Given the description of an element on the screen output the (x, y) to click on. 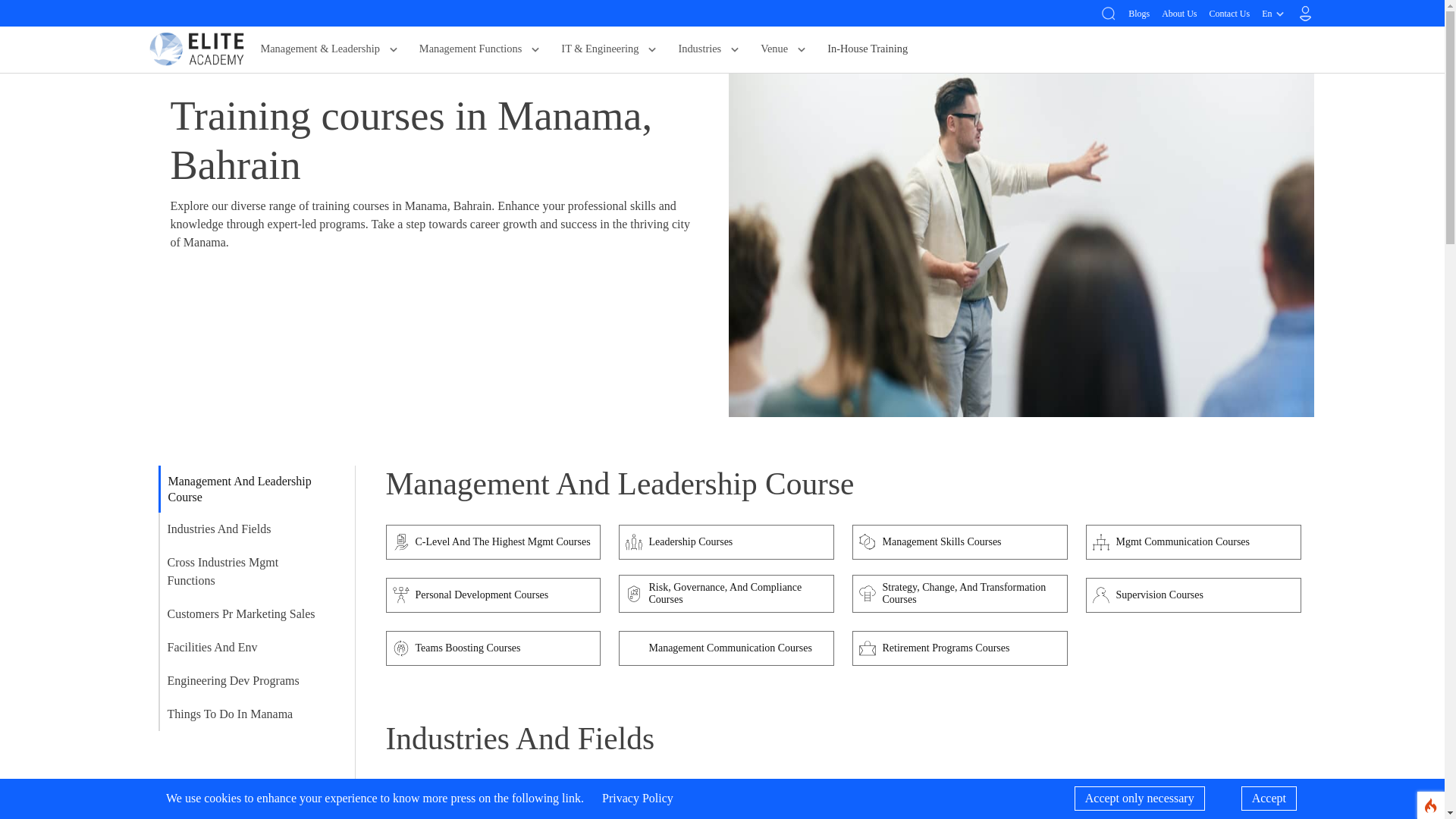
En (1274, 13)
About Us (1178, 12)
Contact Us (1228, 12)
Management Functions (481, 49)
